Given the description of an element on the screen output the (x, y) to click on. 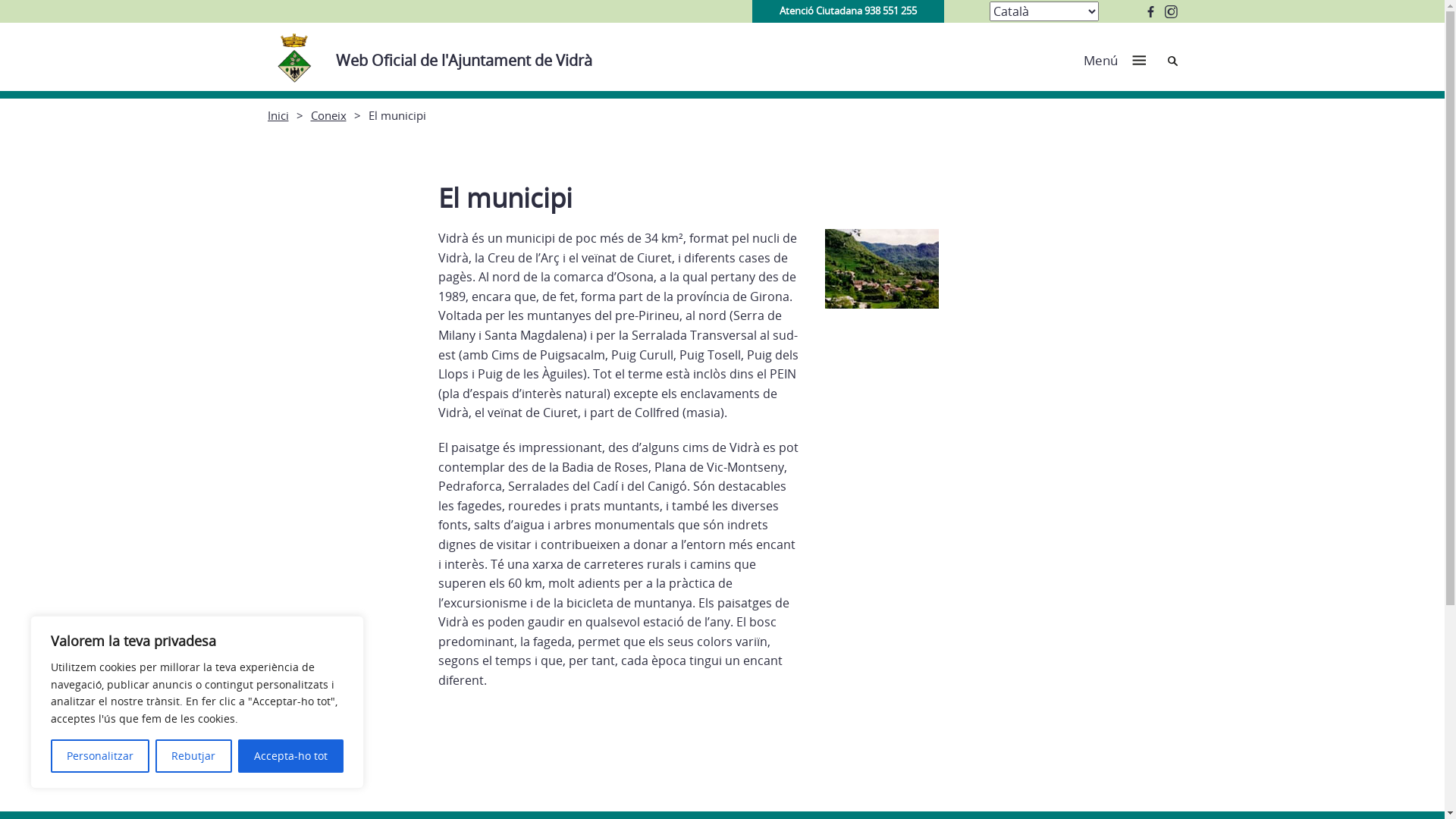
Coneix Element type: text (328, 114)
Inici Element type: text (277, 114)
Cerca Element type: text (1172, 60)
Personalitzar Element type: text (99, 755)
Accepta-ho tot Element type: text (290, 755)
Rebutjar Element type: text (193, 755)
